Given the description of an element on the screen output the (x, y) to click on. 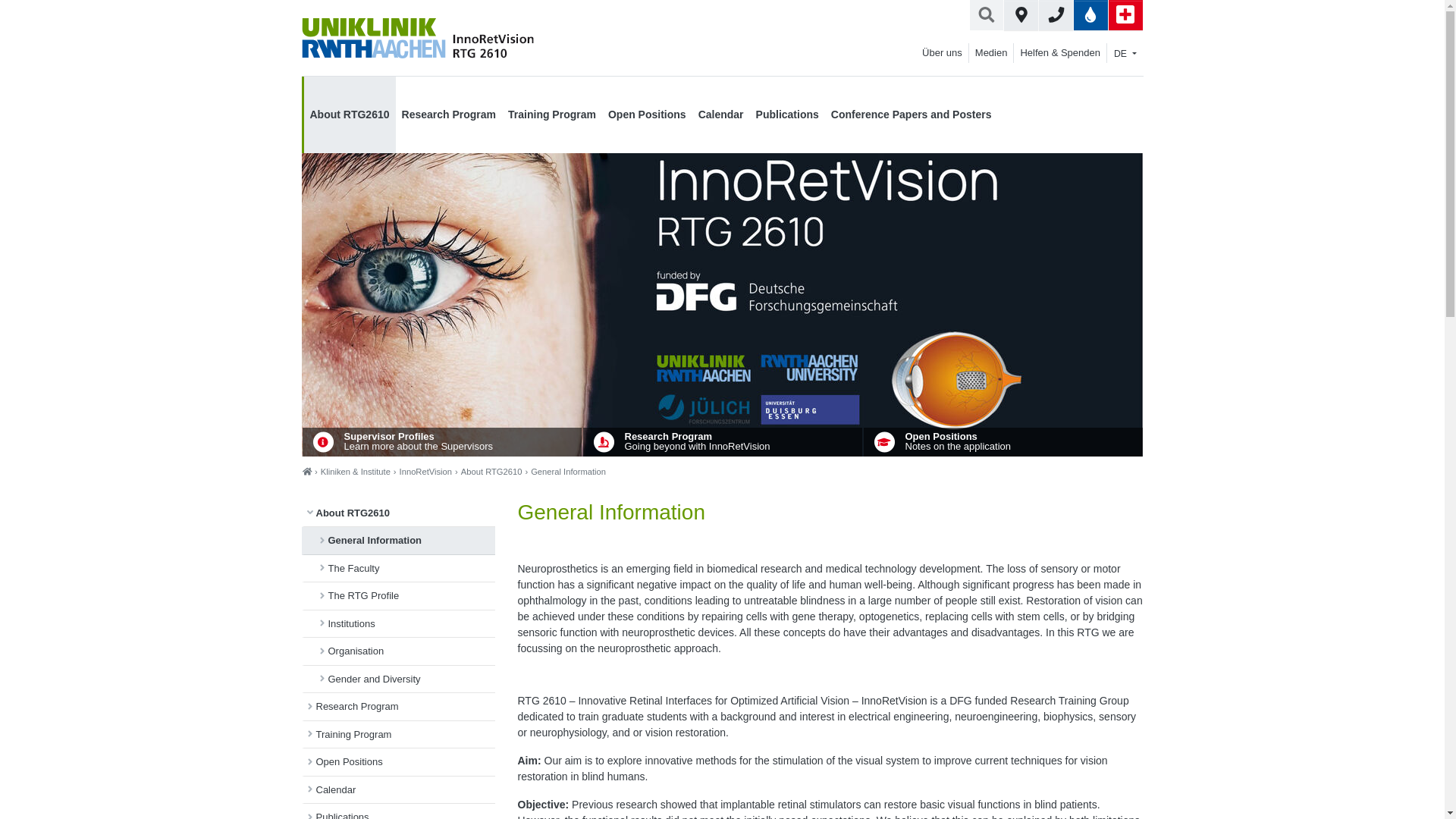
Uniklinik RWTH Aachen (597, 39)
Uniklinik RWTH Aachen (373, 38)
DE (1124, 53)
About RTG2610 (348, 114)
Research Program (449, 114)
Training Program (552, 114)
Medien (991, 53)
